Given the description of an element on the screen output the (x, y) to click on. 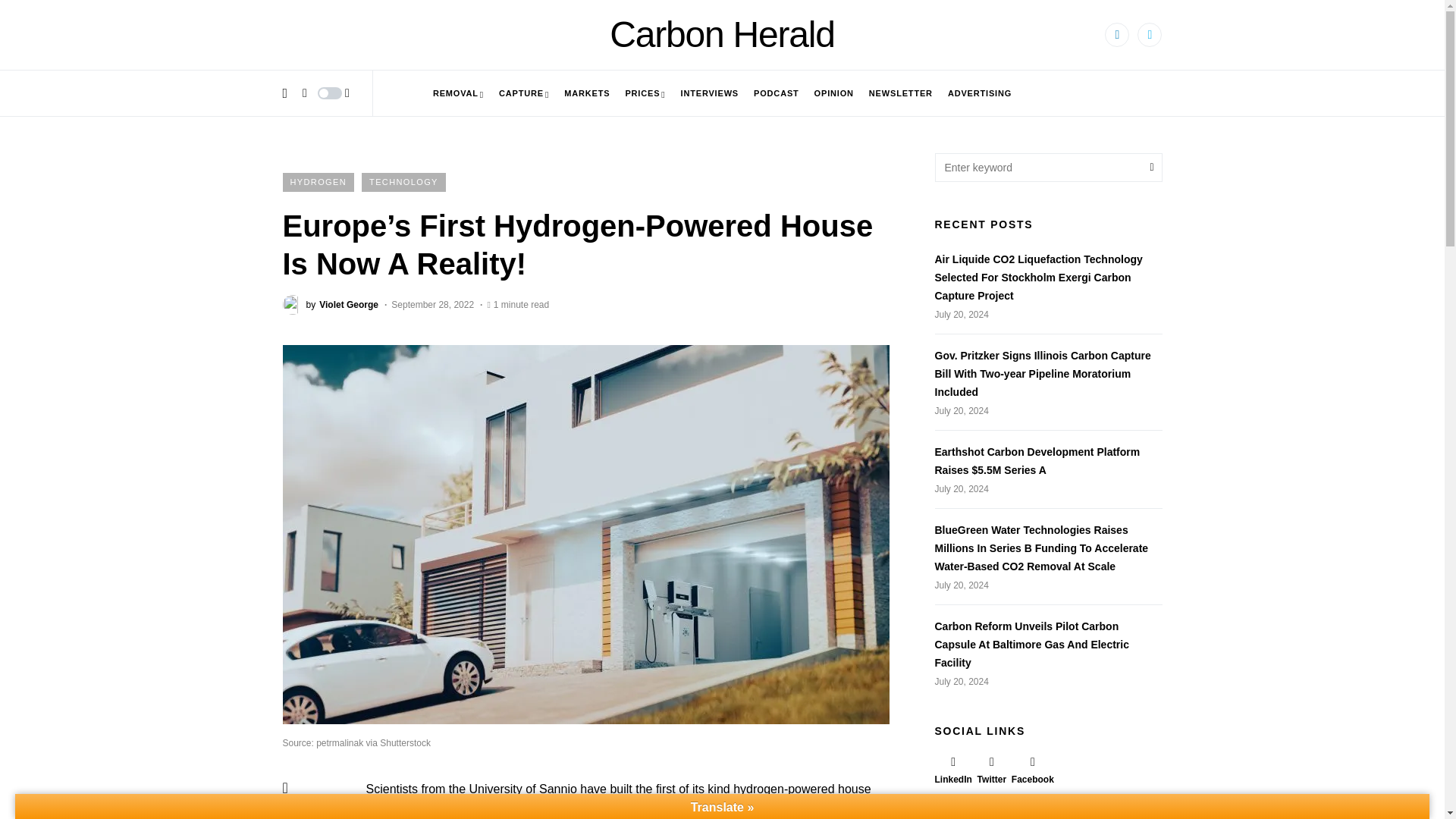
Carbon Herald (722, 34)
REMOVAL (457, 93)
View all posts by Violet George (330, 303)
